Given the description of an element on the screen output the (x, y) to click on. 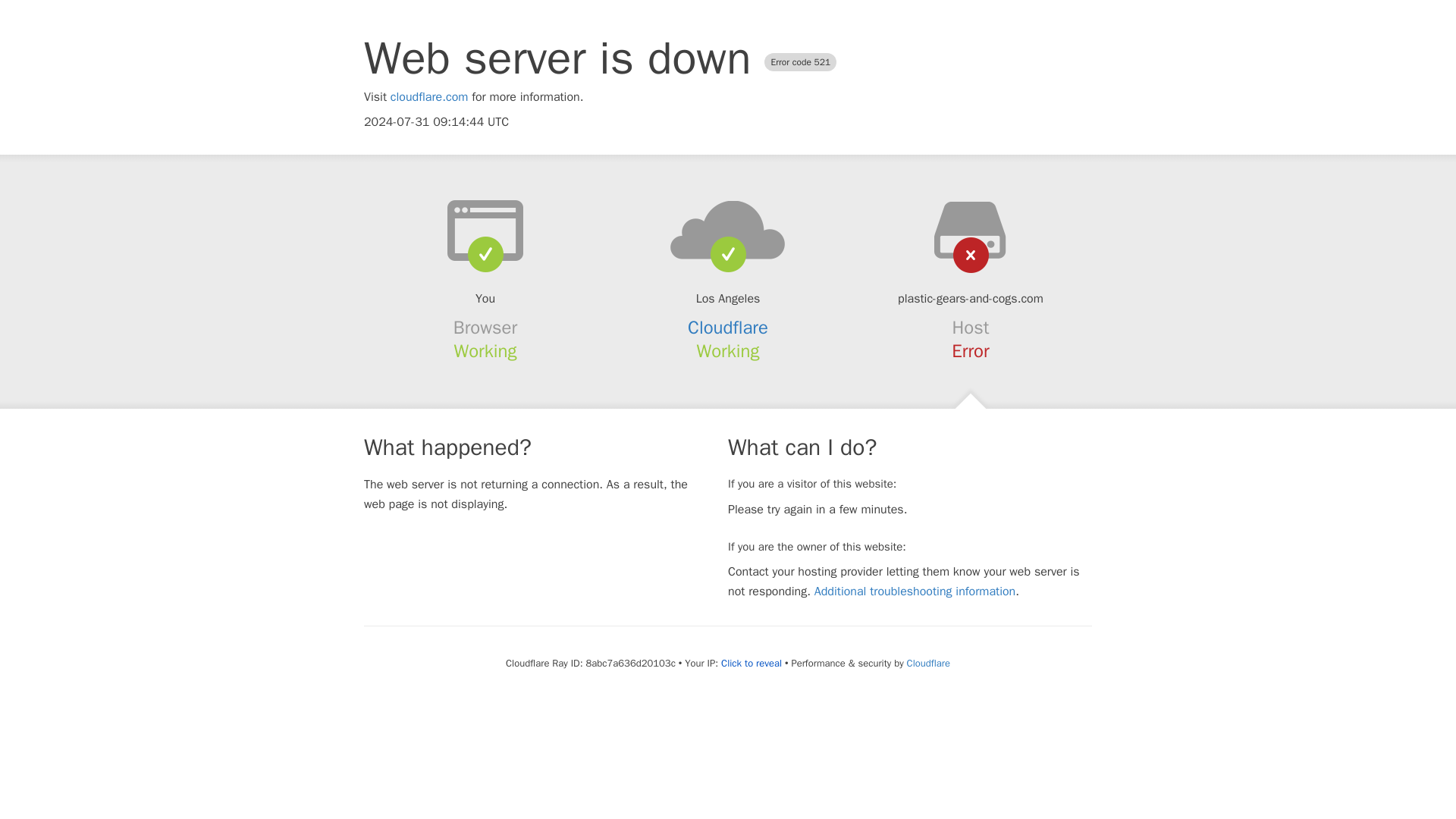
Click to reveal (750, 663)
Cloudflare (928, 662)
Cloudflare (727, 327)
Additional troubleshooting information (913, 590)
cloudflare.com (429, 96)
